Given the description of an element on the screen output the (x, y) to click on. 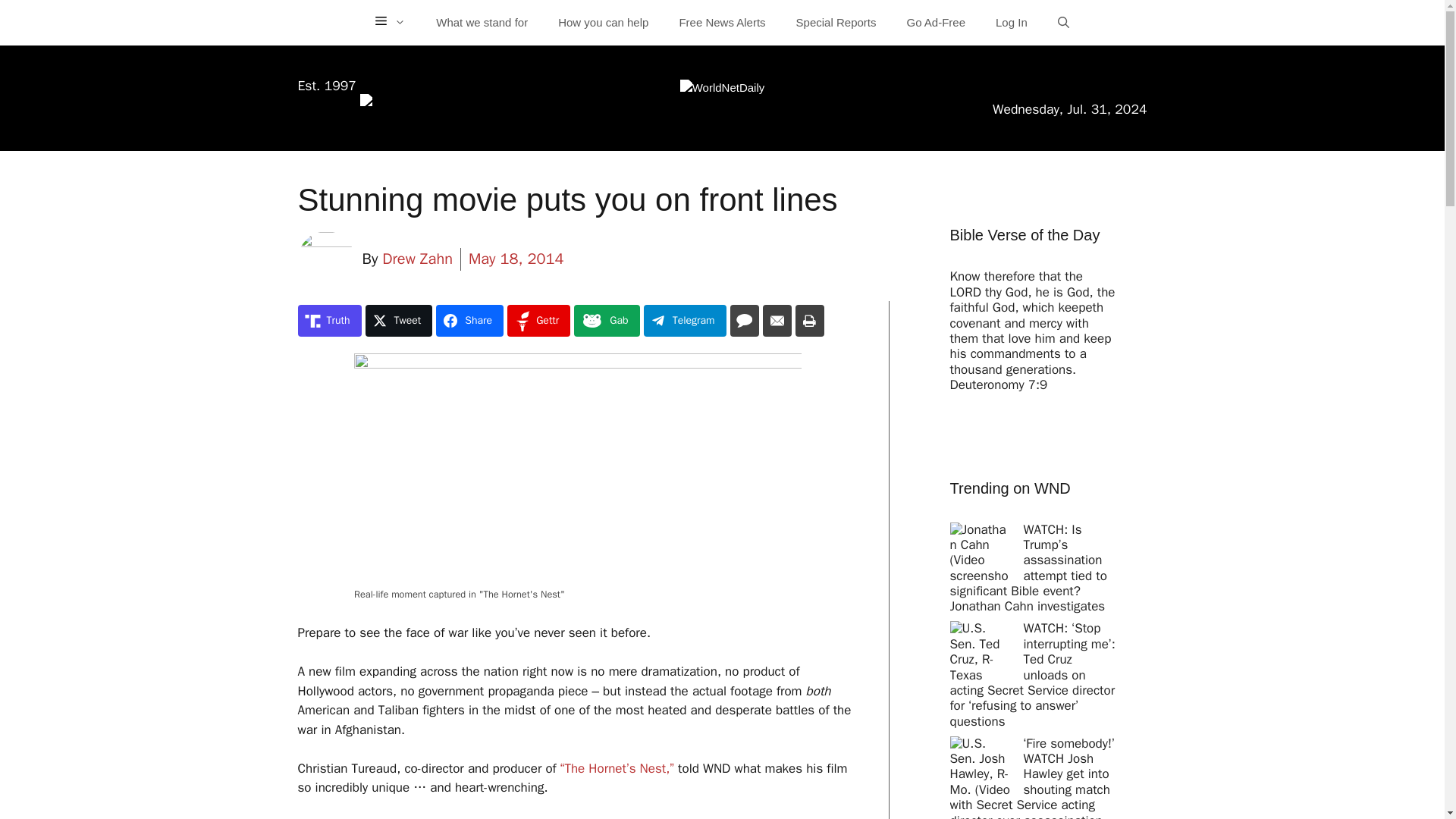
Share on Share (469, 320)
Share on Telegram (684, 320)
Share on Truth (329, 320)
Share on Gettr (538, 320)
Share on Gab (606, 320)
Share on Tweet (398, 320)
